Given the description of an element on the screen output the (x, y) to click on. 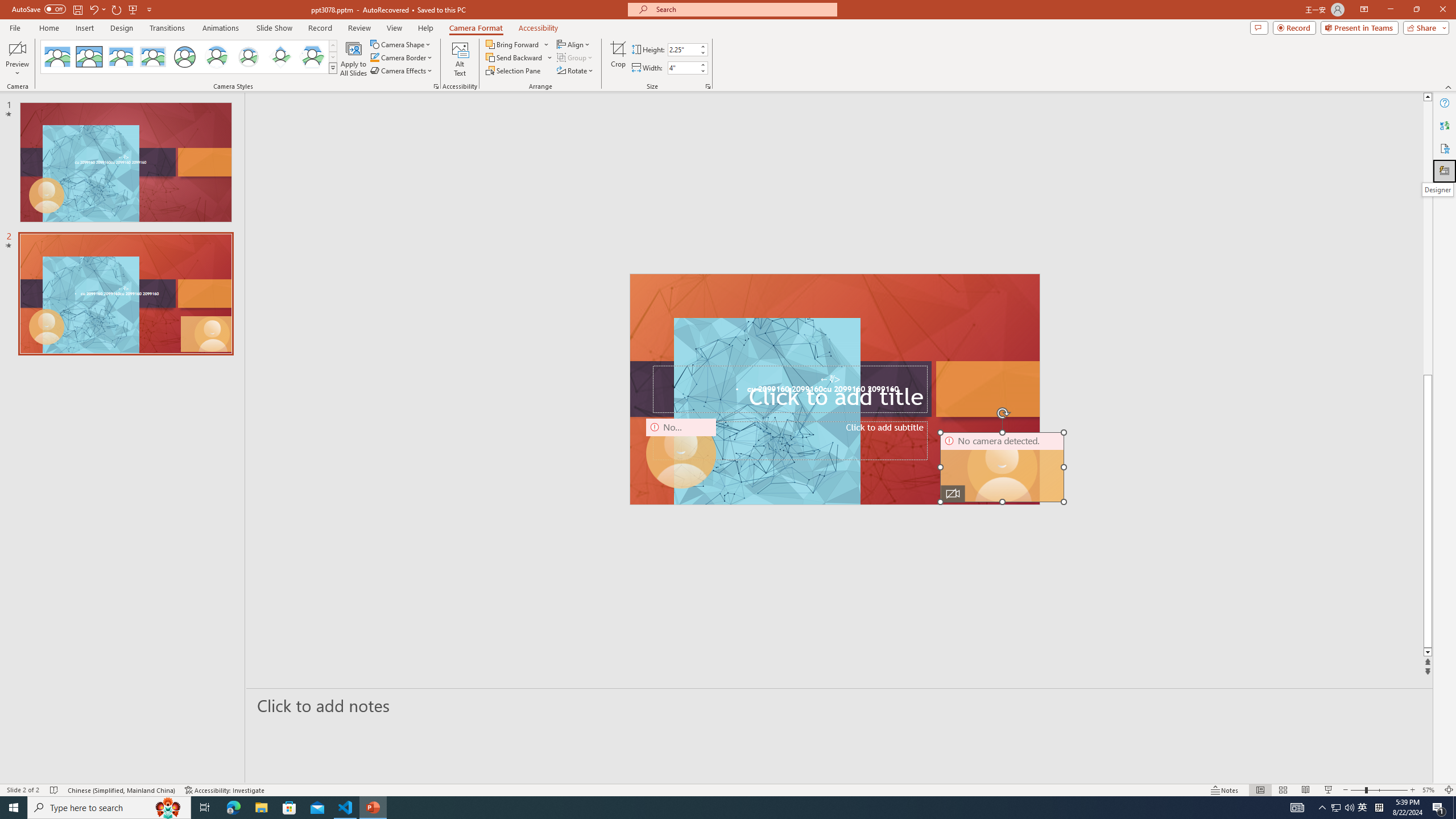
Send Backward (518, 56)
Center Shadow Circle (216, 56)
Bring Forward (517, 44)
Center Shadow Rectangle (120, 56)
